Given the description of an element on the screen output the (x, y) to click on. 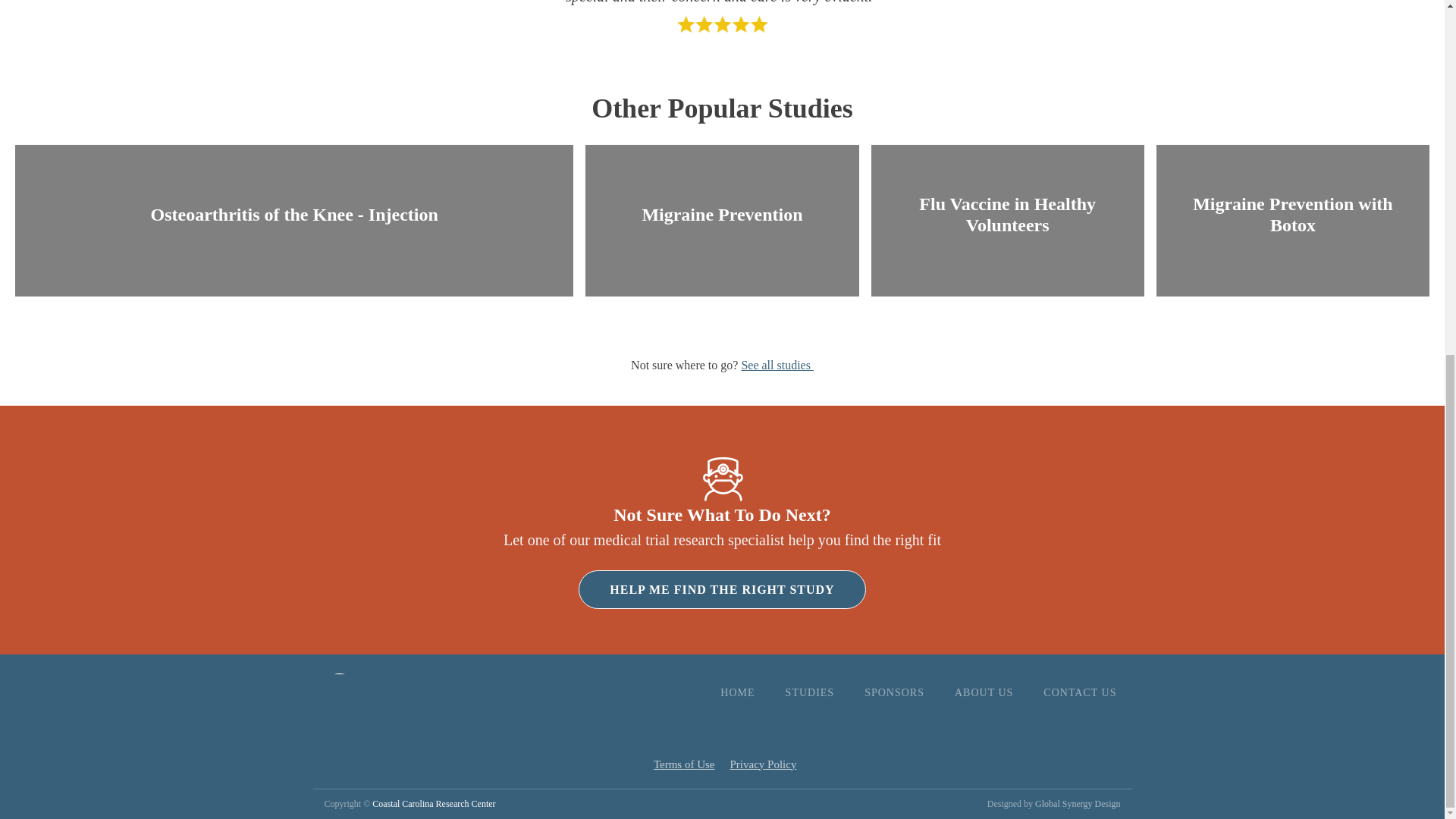
HELP ME FIND THE RIGHT STUDY (721, 589)
Migraine Prevention (722, 214)
SPONSORS (893, 692)
Terms of Use (683, 764)
Migraine Prevention with Botox (1292, 214)
HOME (737, 692)
Osteoarthritis of the Knee - Injection (294, 214)
See all studies  (777, 364)
CONTACT US (1079, 692)
Flu Vaccine in Healthy Volunteers (1007, 214)
STUDIES (810, 692)
ABOUT US (983, 692)
